Given the description of an element on the screen output the (x, y) to click on. 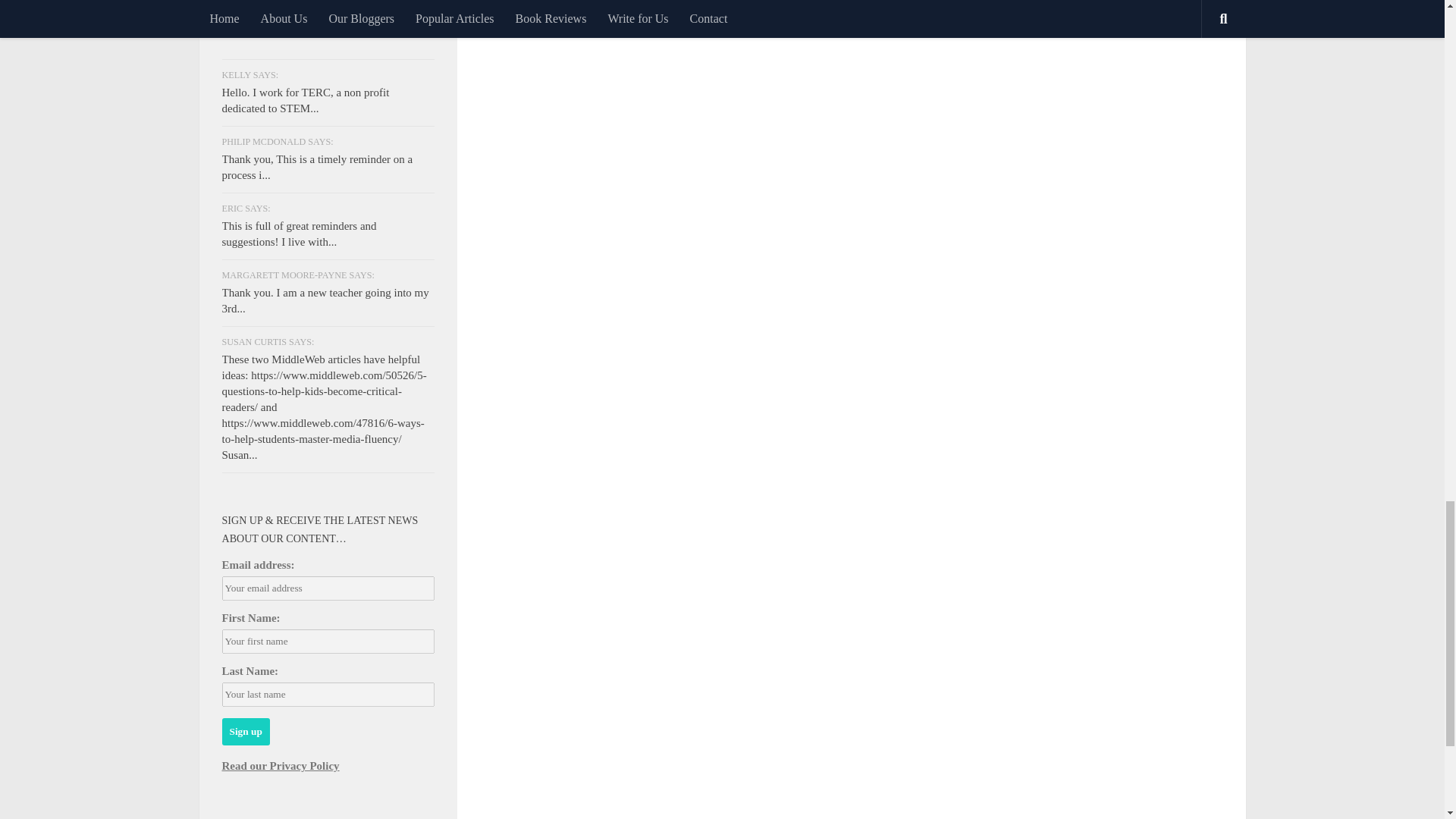
Sign up (245, 731)
